Given the description of an element on the screen output the (x, y) to click on. 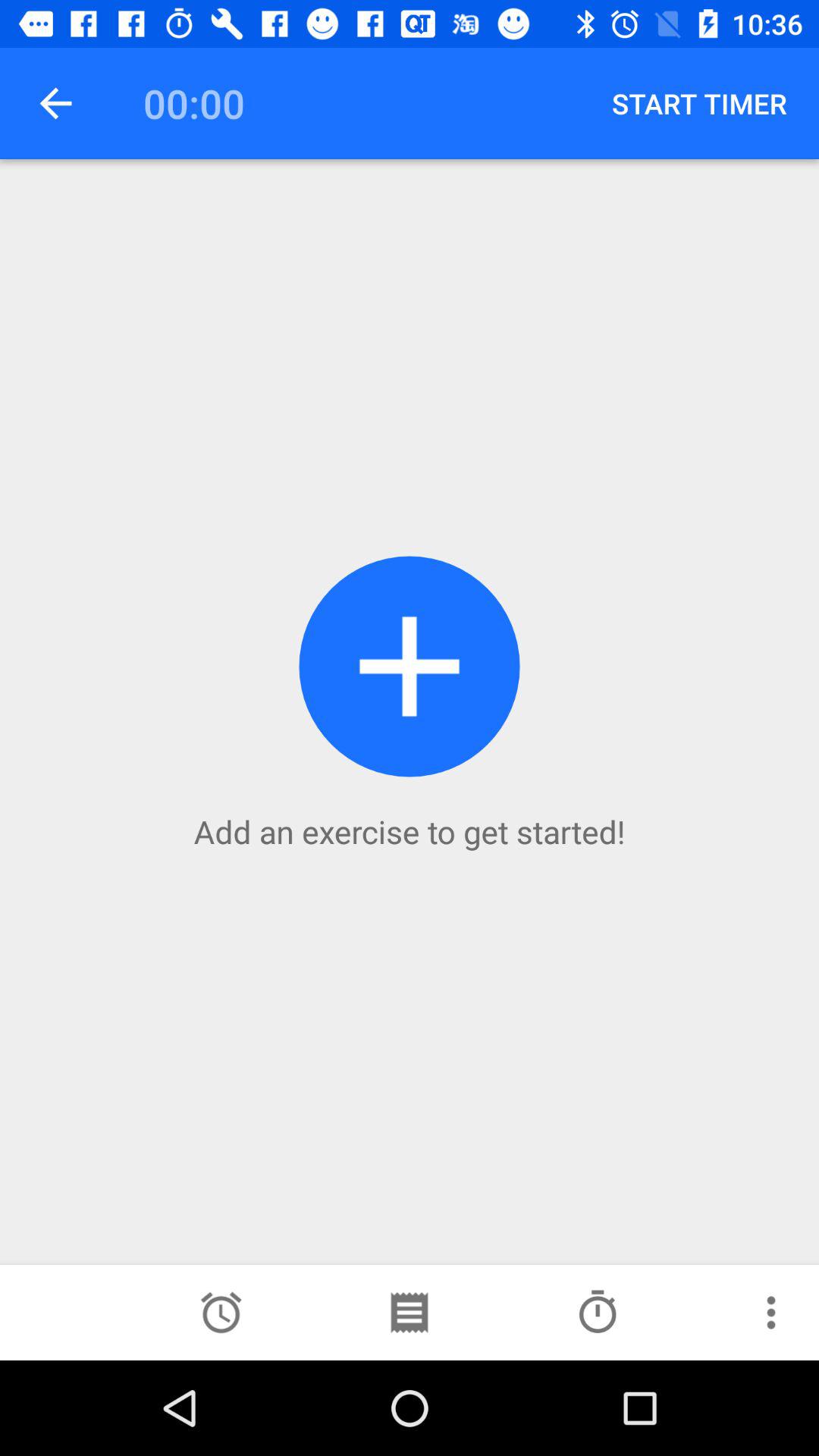
choose alarm (221, 1312)
